Given the description of an element on the screen output the (x, y) to click on. 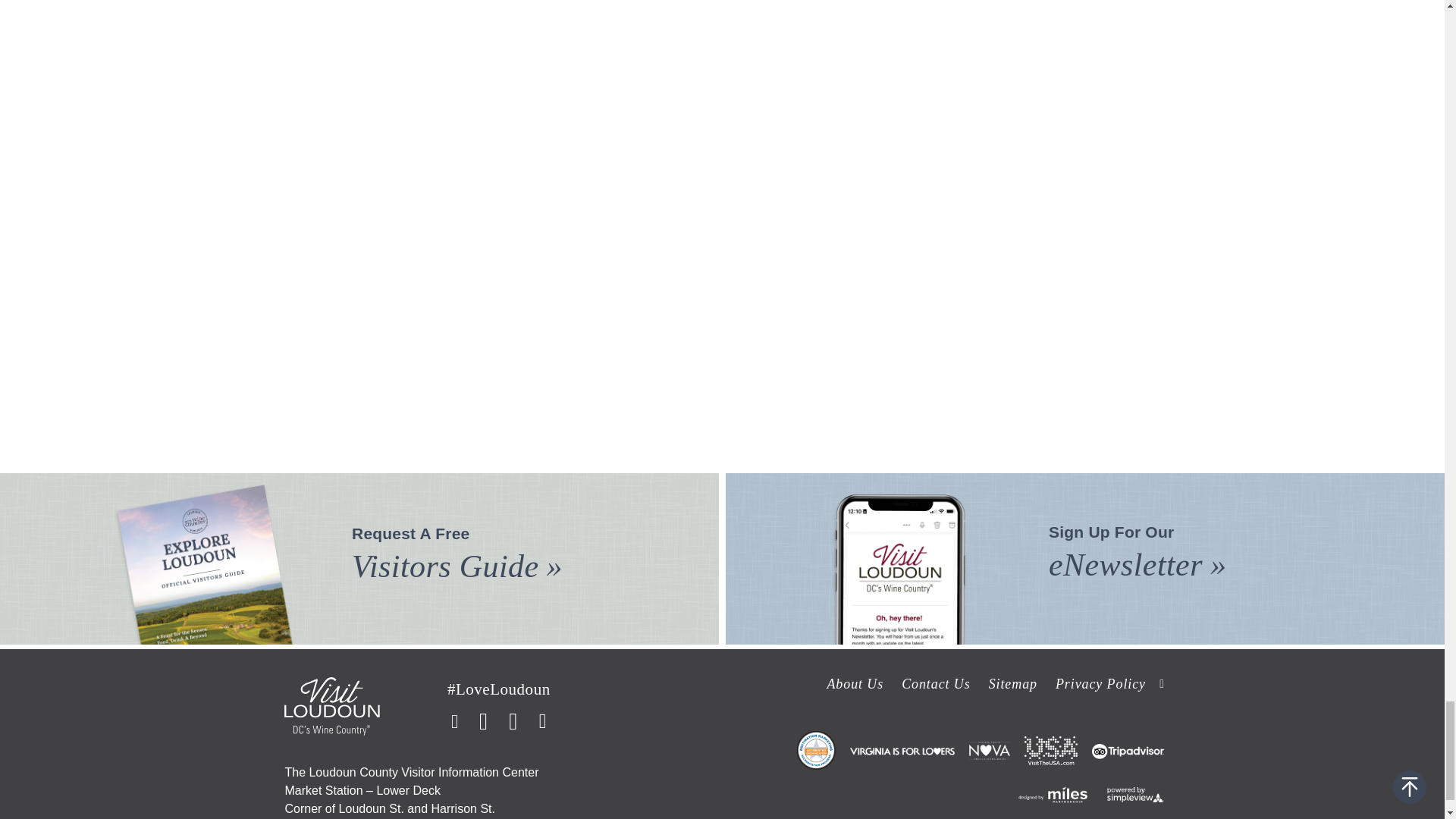
Contact Us (936, 683)
About Us (855, 683)
